Given the description of an element on the screen output the (x, y) to click on. 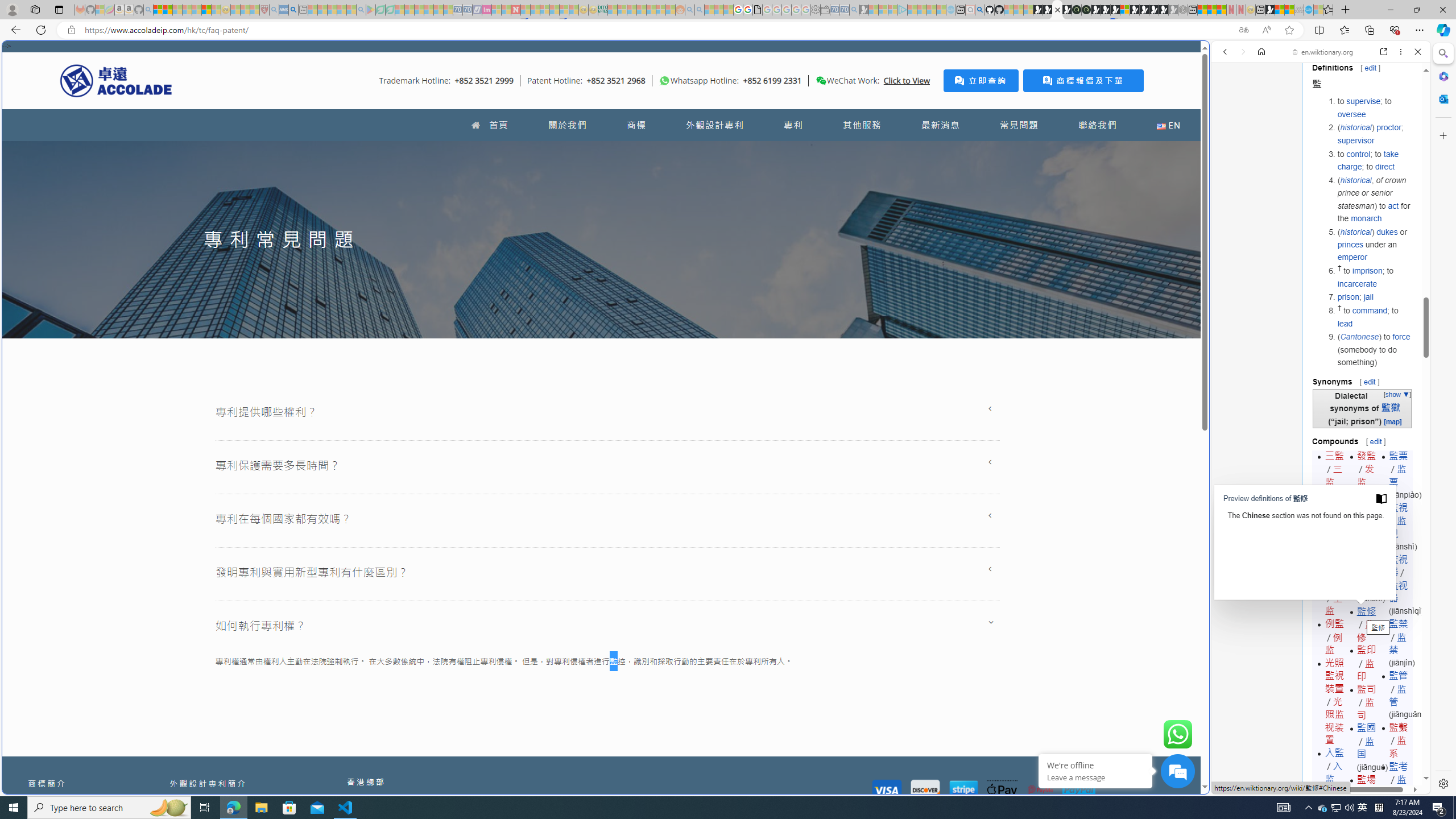
Search the web (1326, 78)
Close split screen (1208, 57)
Microsoft account | Privacy - Sleeping (892, 9)
Close Outlook pane (1442, 98)
to supervise; to oversee (1374, 107)
EN (1168, 124)
Terms of Use Agreement - Sleeping (380, 9)
to control; to take charge; to direct (1374, 160)
